Given the description of an element on the screen output the (x, y) to click on. 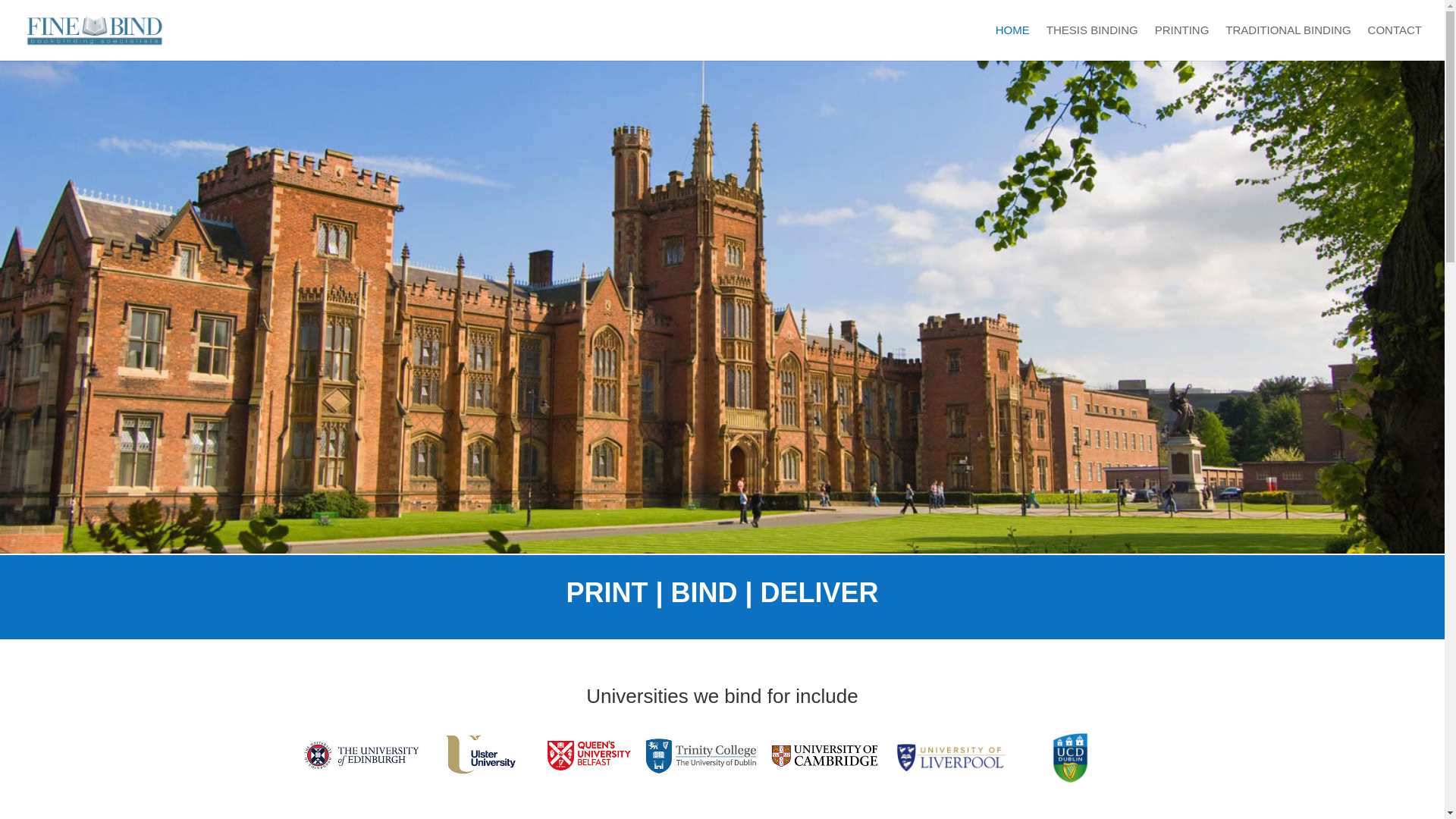
Trinity (701, 755)
UCD (1070, 758)
HOME (1012, 42)
TRADITIONAL BINDING (1288, 42)
THESIS BINDING (1092, 42)
UUJ (480, 755)
cambridge (824, 756)
CONTACT (1395, 42)
Edinburgh (360, 755)
Queens (588, 755)
